Given the description of an element on the screen output the (x, y) to click on. 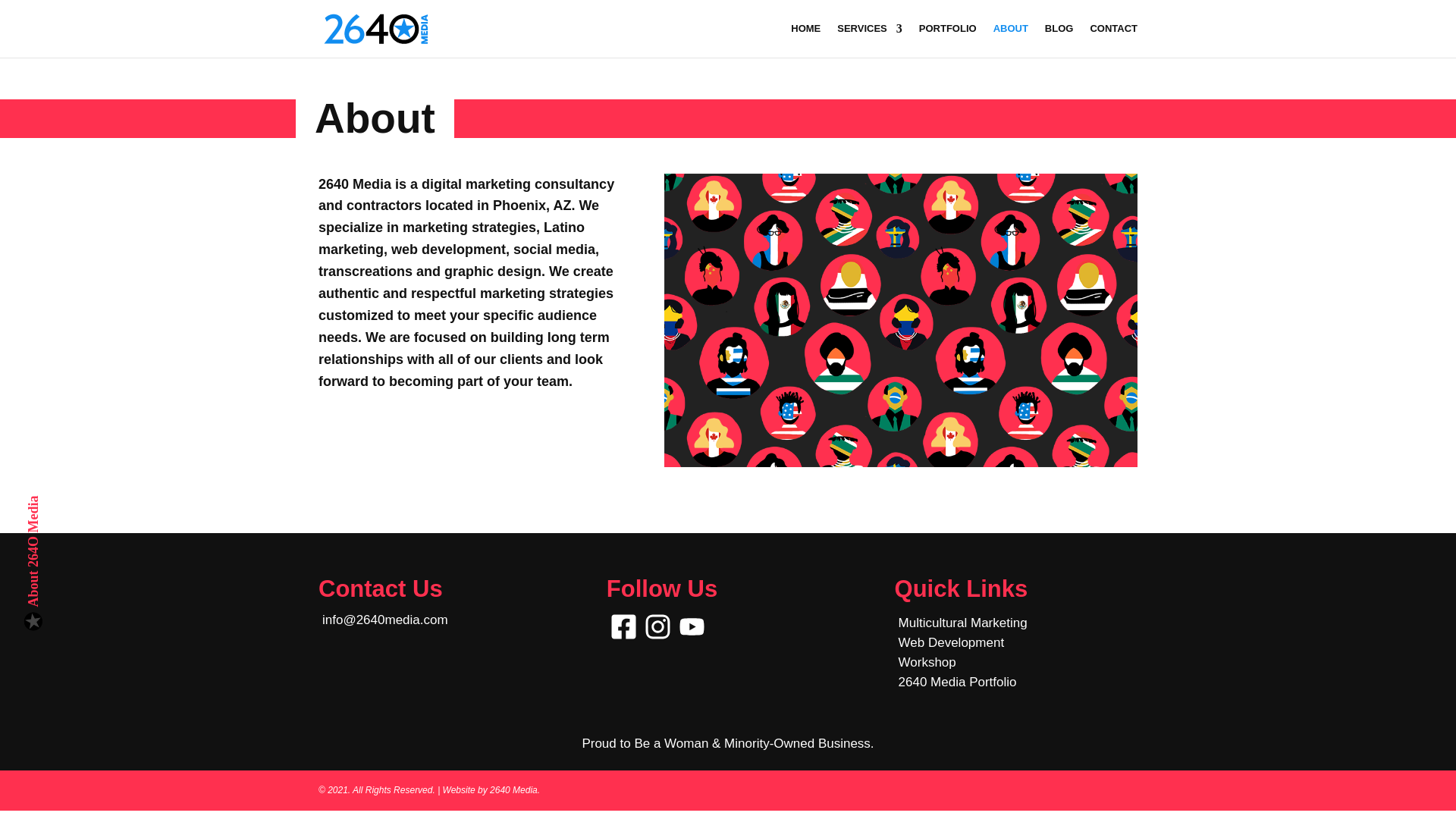
Web Development (951, 642)
PORTFOLIO (947, 40)
BLOG (1059, 40)
CONTACT (1113, 40)
HOME (805, 40)
SERVICES (869, 40)
ABOUT (1009, 40)
2640 Media Portfolio (957, 681)
Multicultural Marketing (962, 622)
Workshop (927, 662)
